Given the description of an element on the screen output the (x, y) to click on. 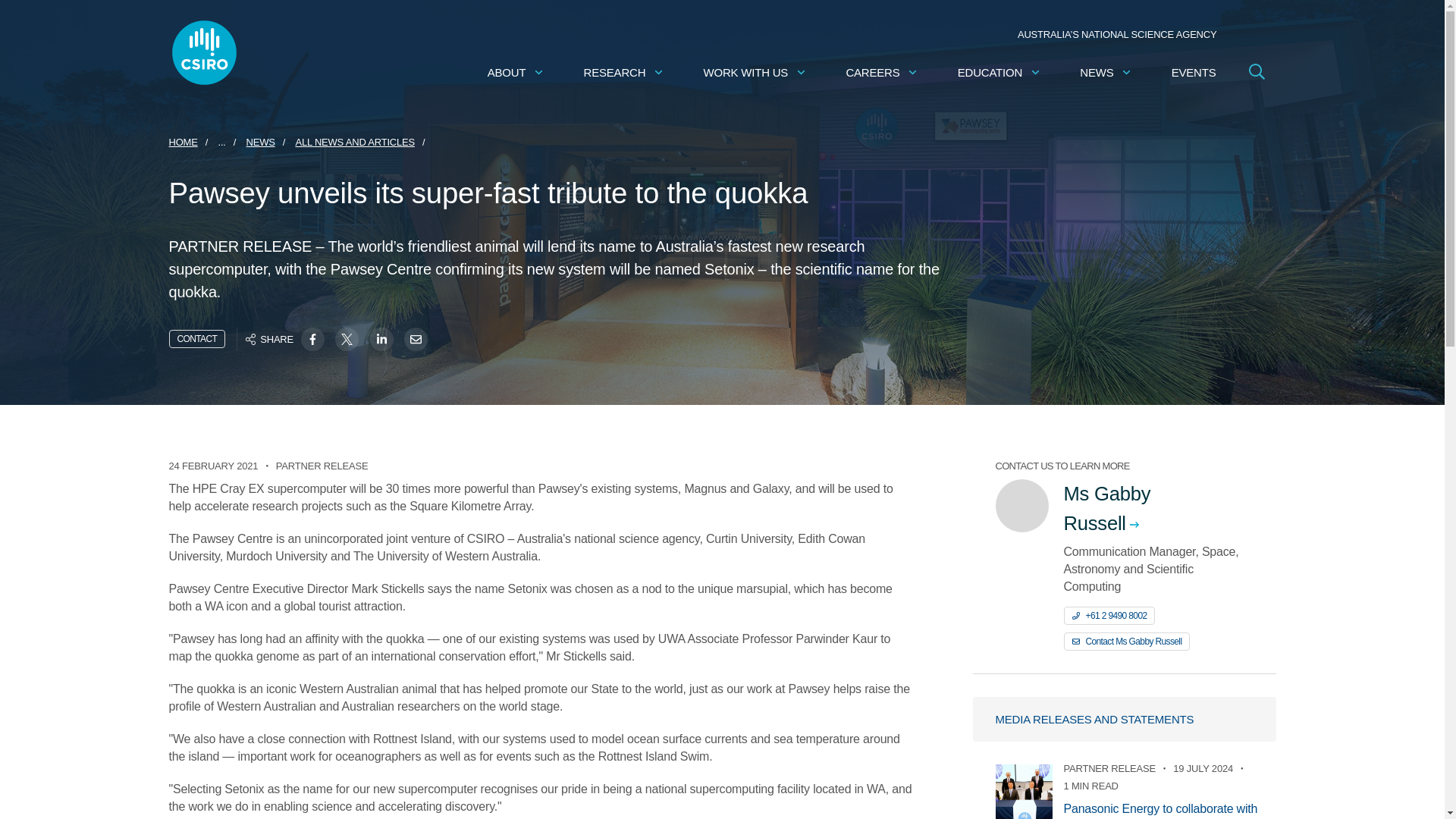
CAREERS (881, 72)
EVENTS (1193, 72)
RESEARCH (624, 72)
HOME (182, 141)
CONTACT (196, 339)
WORK WITH US (755, 72)
Ms Gabby Russell (1157, 508)
NEWS (260, 141)
ALL NEWS AND ARTICLES (354, 141)
ABOUT (515, 72)
MEDIA RELEASES AND STATEMENTS (1123, 719)
EDUCATION (999, 72)
NEWS (1106, 72)
Contact Ms Gabby Russell (1125, 641)
